Given the description of an element on the screen output the (x, y) to click on. 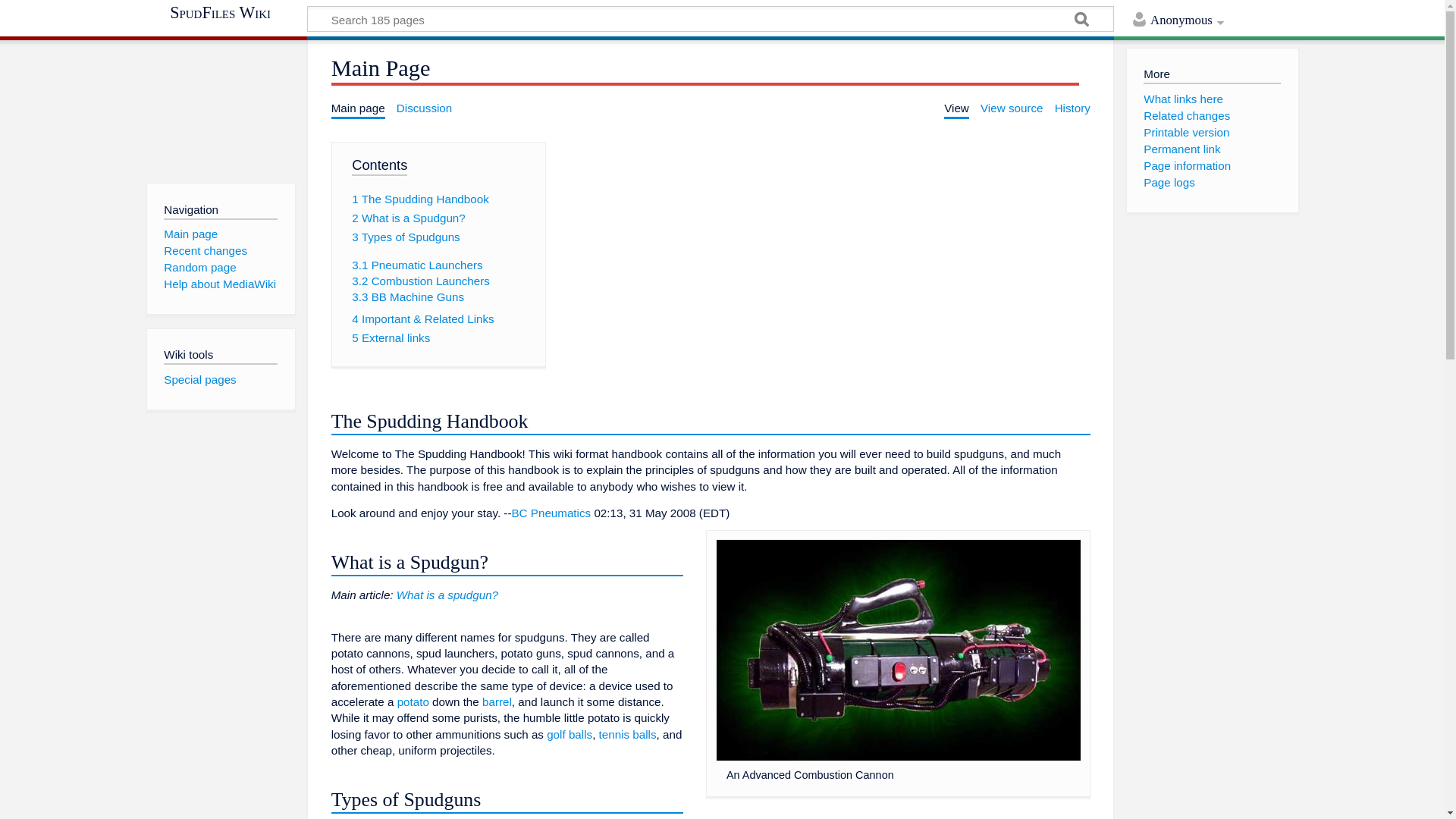
Permanent link to this revision of the page (1181, 148)
Go (1081, 21)
5 External links (390, 337)
SpudFiles Wiki (226, 12)
tennis balls (627, 734)
Search (1081, 21)
Related changes (1186, 115)
Special pages (199, 379)
Search the pages for this text (1081, 21)
3.3 BB Machine Guns (408, 296)
3.2 Combustion Launchers (420, 280)
golf balls (569, 734)
Search (1081, 21)
Recent changes (205, 250)
3 Types of Spudguns (406, 236)
